Given the description of an element on the screen output the (x, y) to click on. 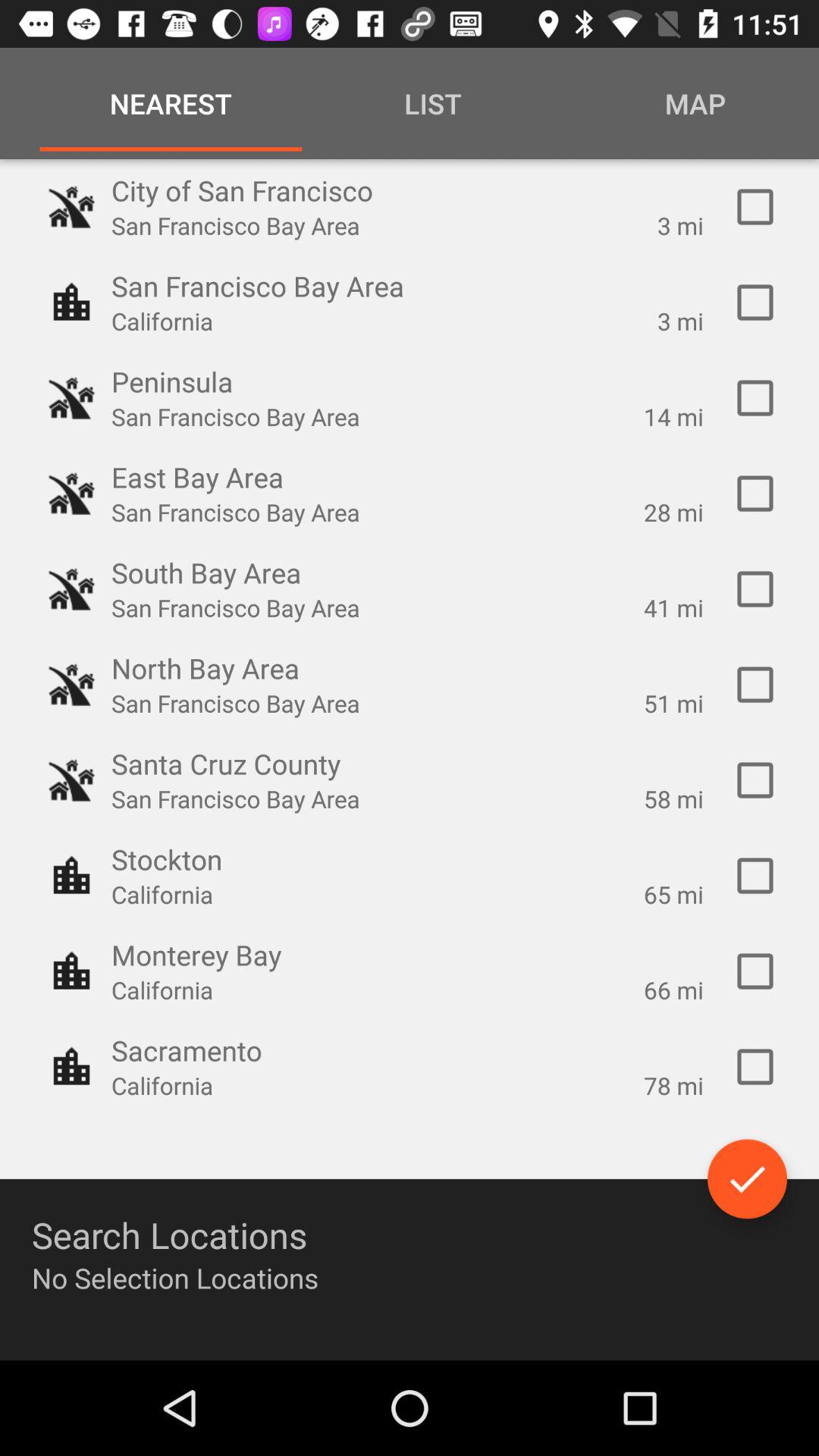
toggle sacramento location (755, 1066)
